Given the description of an element on the screen output the (x, y) to click on. 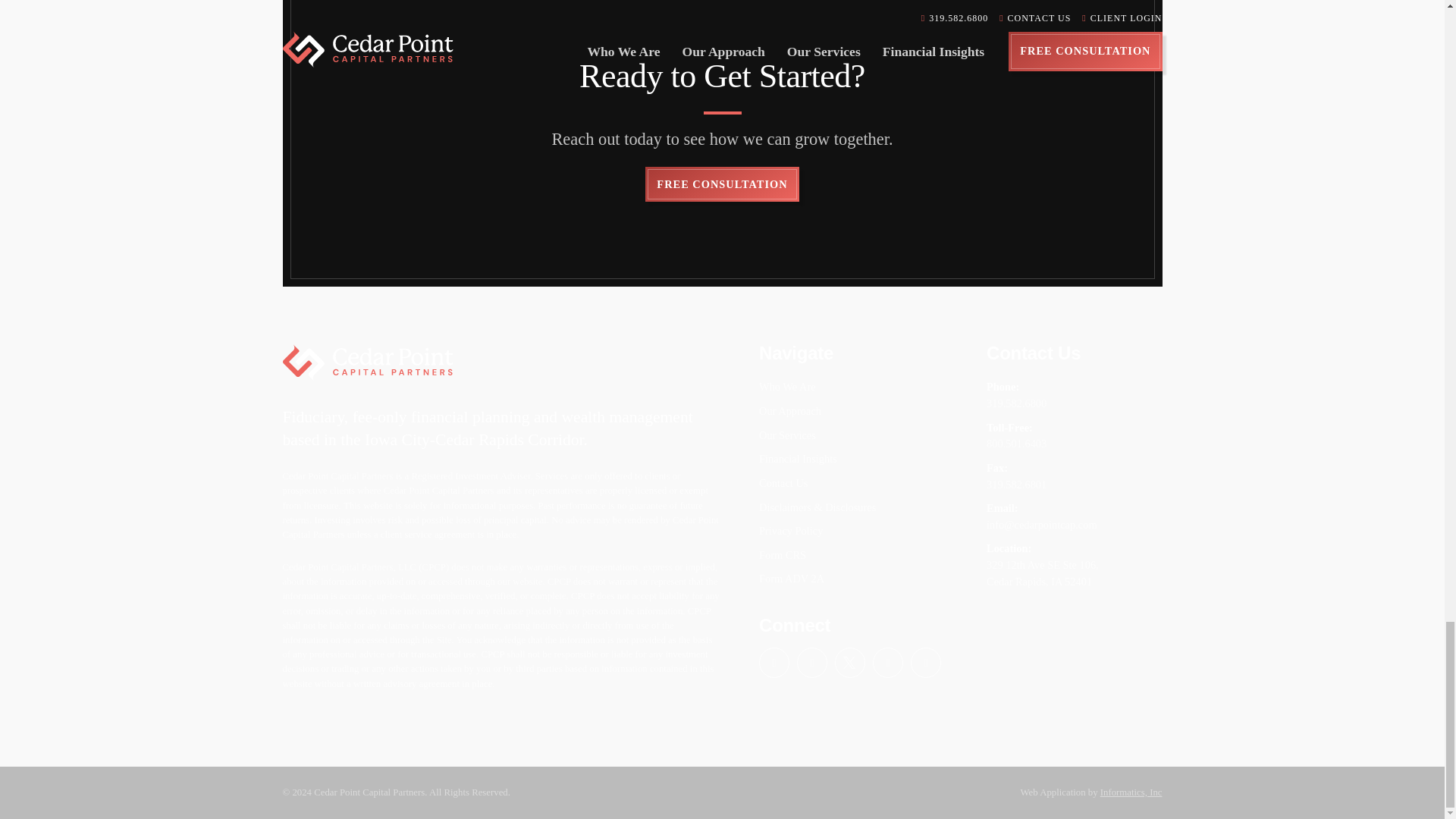
Financial Insights (853, 459)
Youtube (925, 662)
LinkedIn (811, 662)
Contact Us (853, 483)
Facebook (773, 662)
LinkedIn (811, 662)
Instagram (887, 662)
FREE CONSULTATION (721, 184)
Form ADV 2A (853, 579)
Who We Are (853, 387)
